Given the description of an element on the screen output the (x, y) to click on. 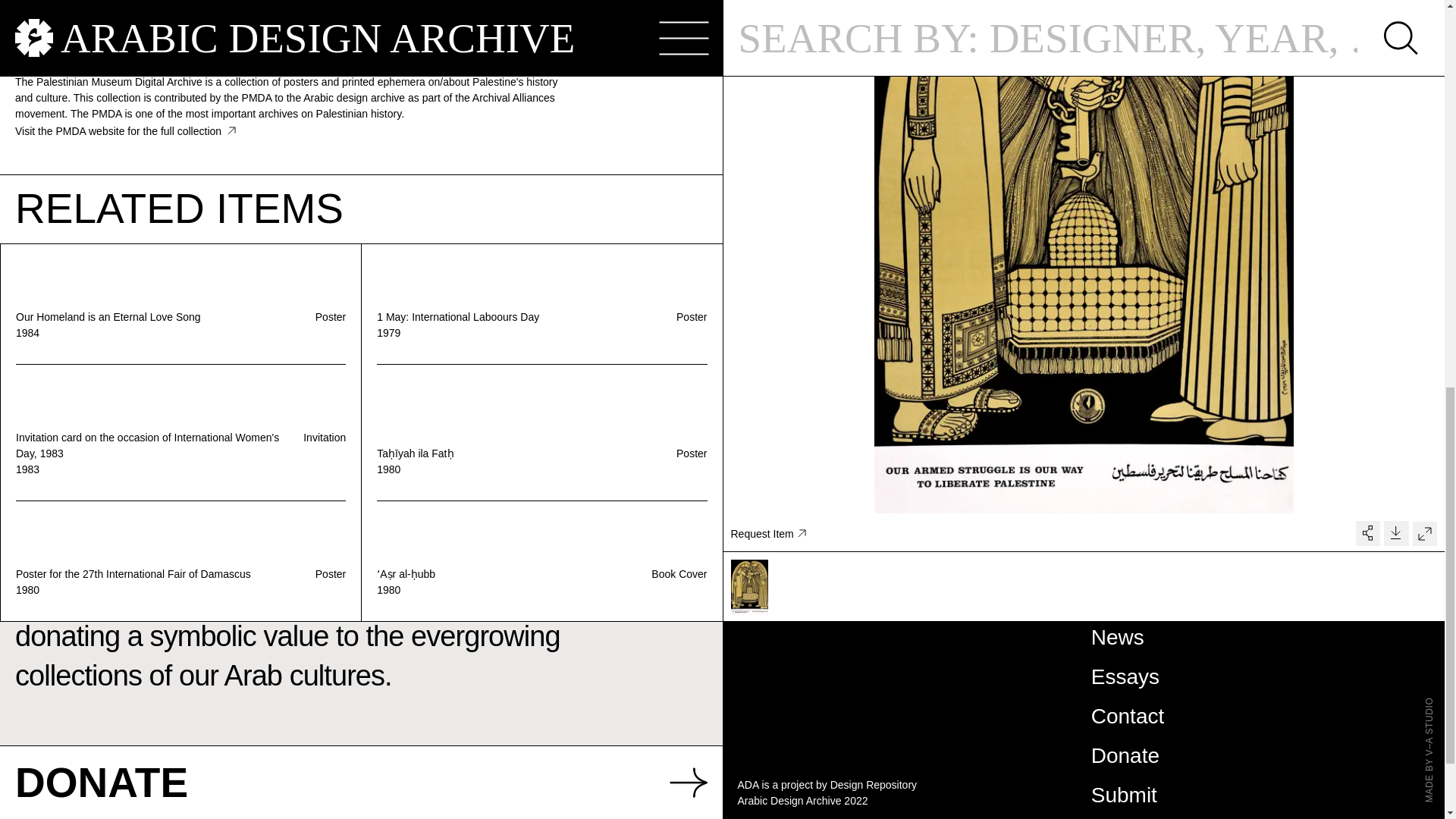
Visit the PMDA website for the full collection (124, 131)
The Palestinian Museum Digital Archive (114, 55)
